Given the description of an element on the screen output the (x, y) to click on. 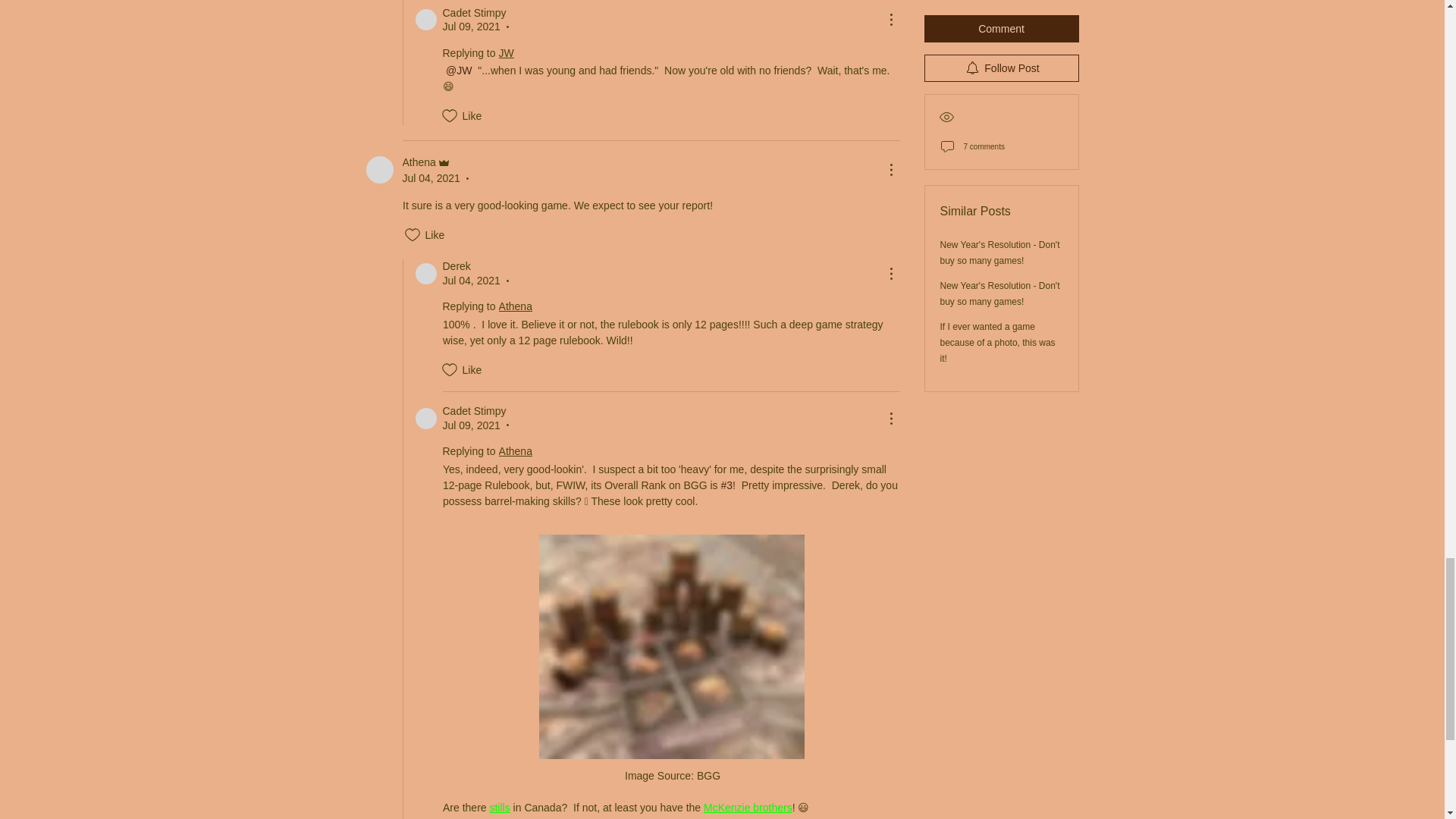
Derek  (425, 273)
Athena (379, 169)
Cadet Stimpy (425, 19)
Cadet Stimpy (425, 418)
